Given the description of an element on the screen output the (x, y) to click on. 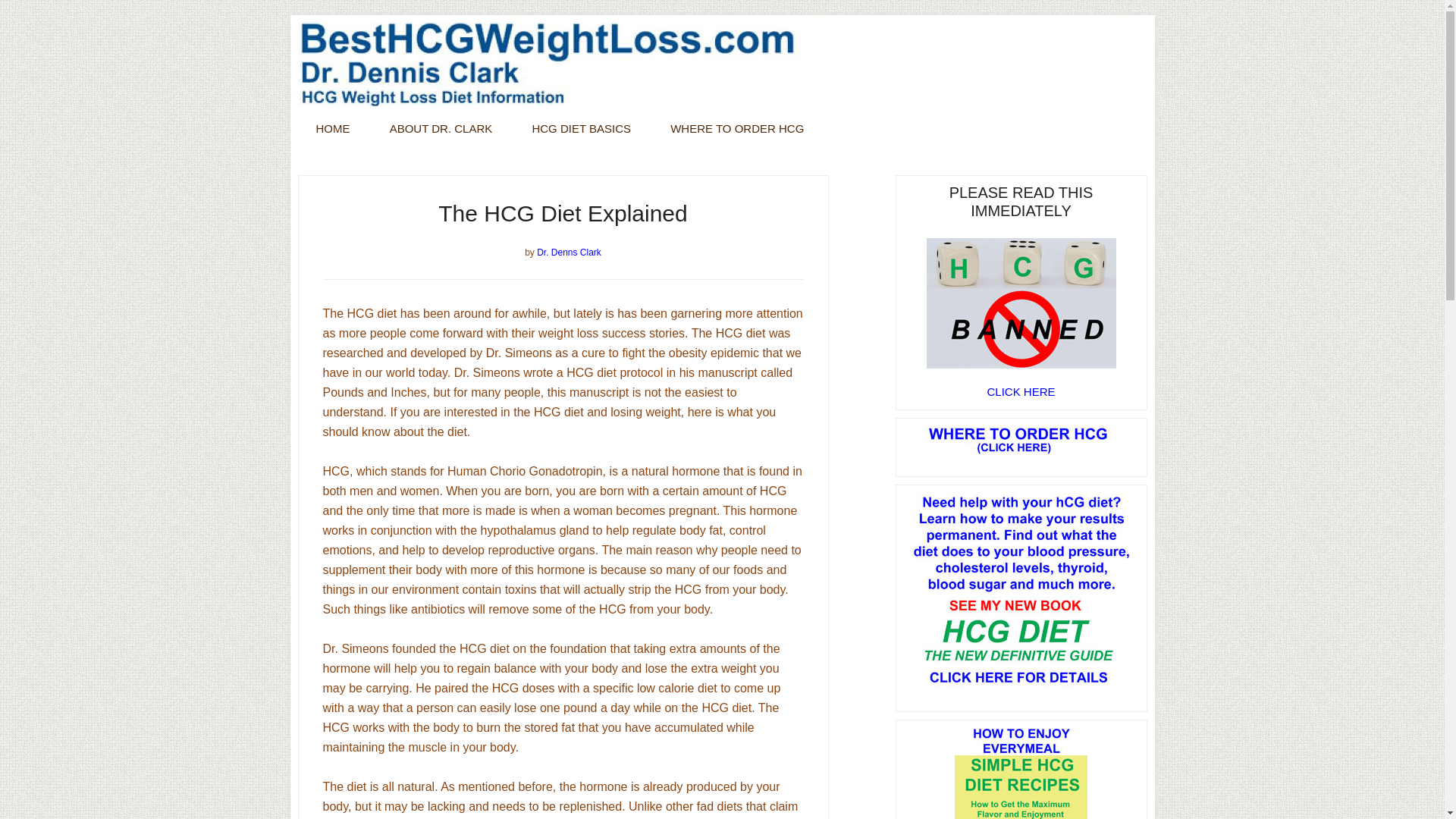
Dr. Denns Clark (569, 252)
WHERE TO ORDER HCG (737, 128)
HOME (332, 128)
ABOUT DR. CLARK (441, 128)
HCG DIET BASICS (581, 128)
The HCG Diet Explained (562, 213)
